Given the description of an element on the screen output the (x, y) to click on. 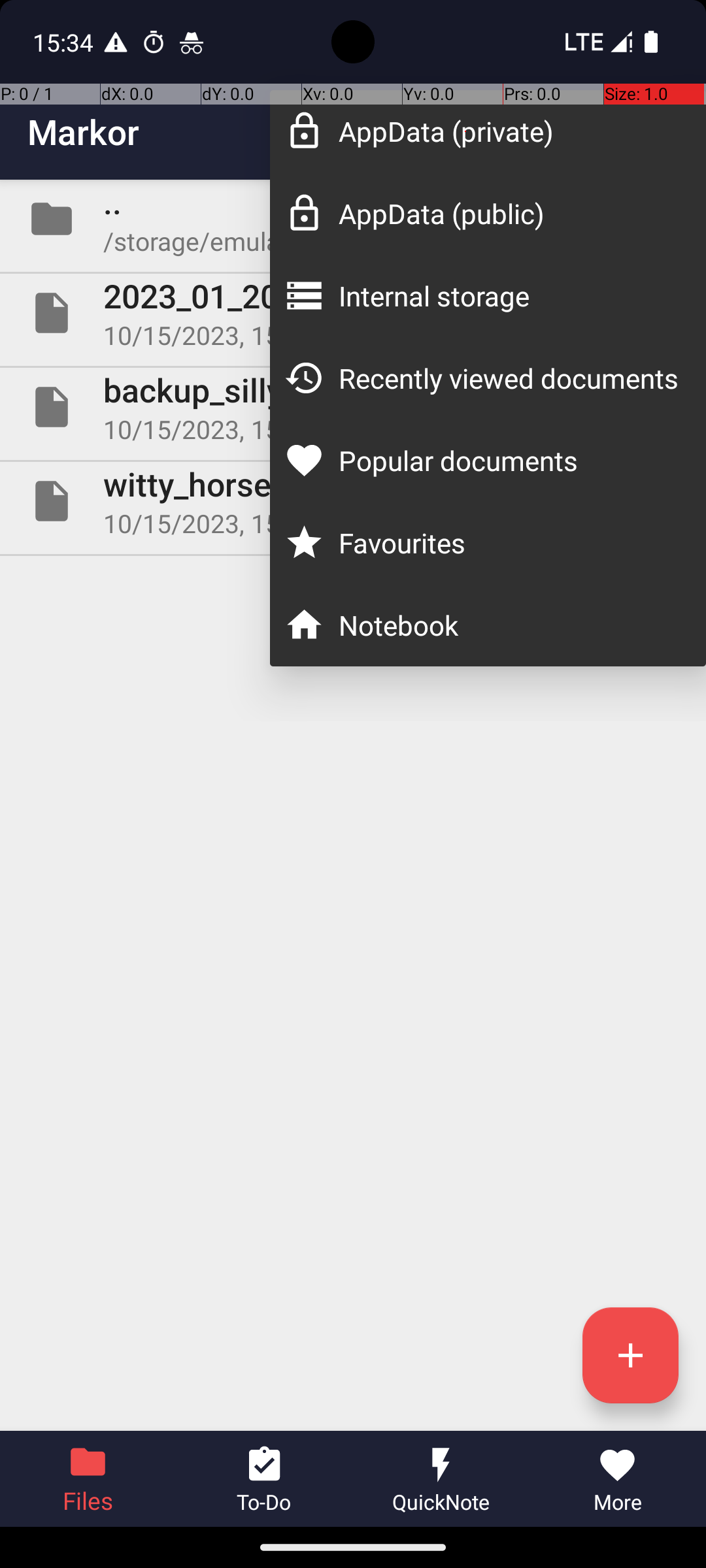
AppData (private) Element type: android.widget.TextView (508, 130)
AppData (public) Element type: android.widget.TextView (508, 212)
Internal storage Element type: android.widget.TextView (508, 295)
Recently viewed documents Element type: android.widget.TextView (508, 377)
Popular documents Element type: android.widget.TextView (508, 459)
Favourites Element type: android.widget.TextView (508, 542)
Notebook Element type: android.widget.TextView (508, 624)
